Given the description of an element on the screen output the (x, y) to click on. 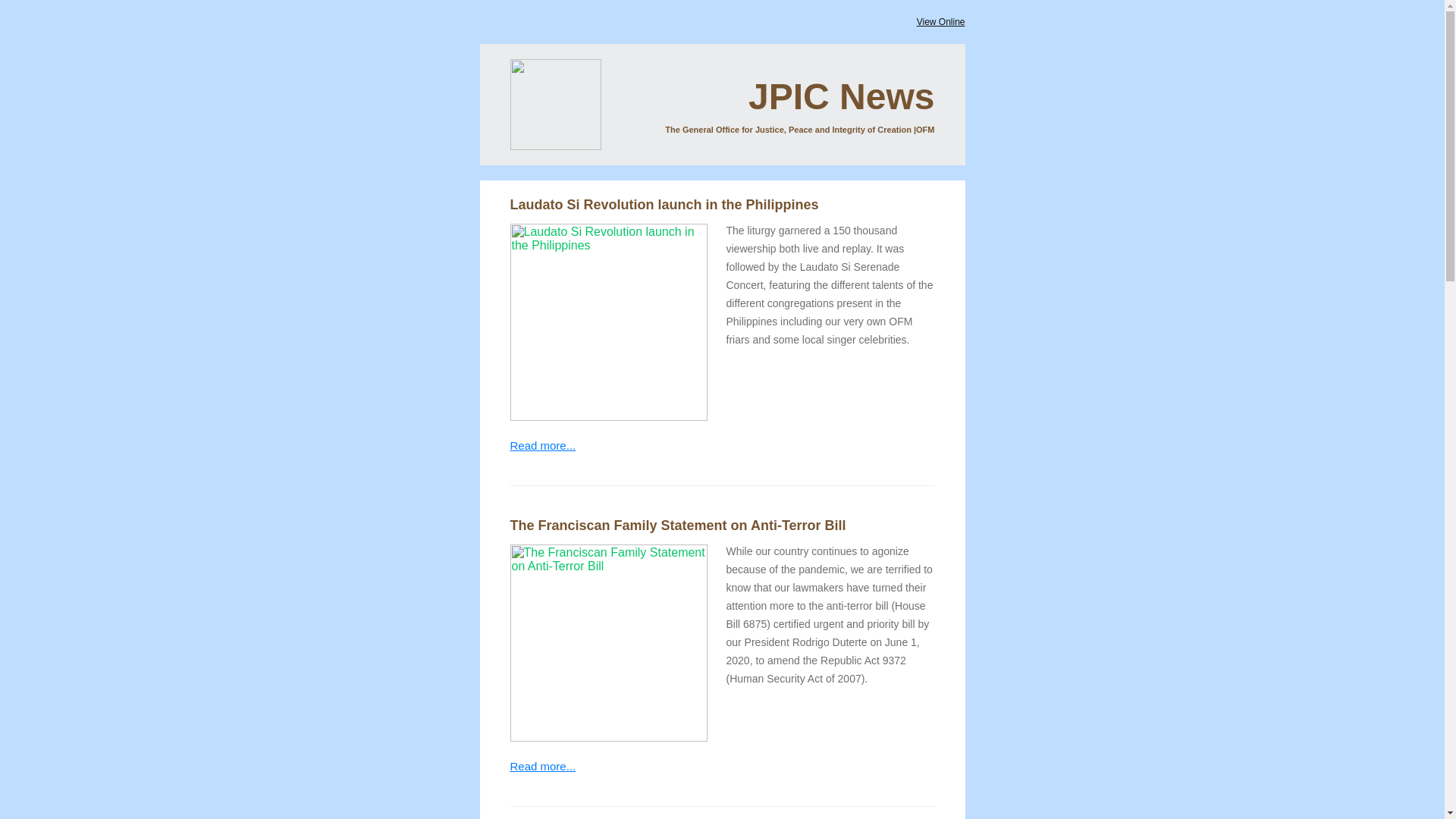
The Franciscan Family Statement on Anti-Terror Bill (677, 524)
Read more... (542, 445)
JPIC News (841, 96)
Read more... (542, 766)
View Online (941, 21)
Laudato Si Revolution launch in the Philippines (663, 204)
